Given the description of an element on the screen output the (x, y) to click on. 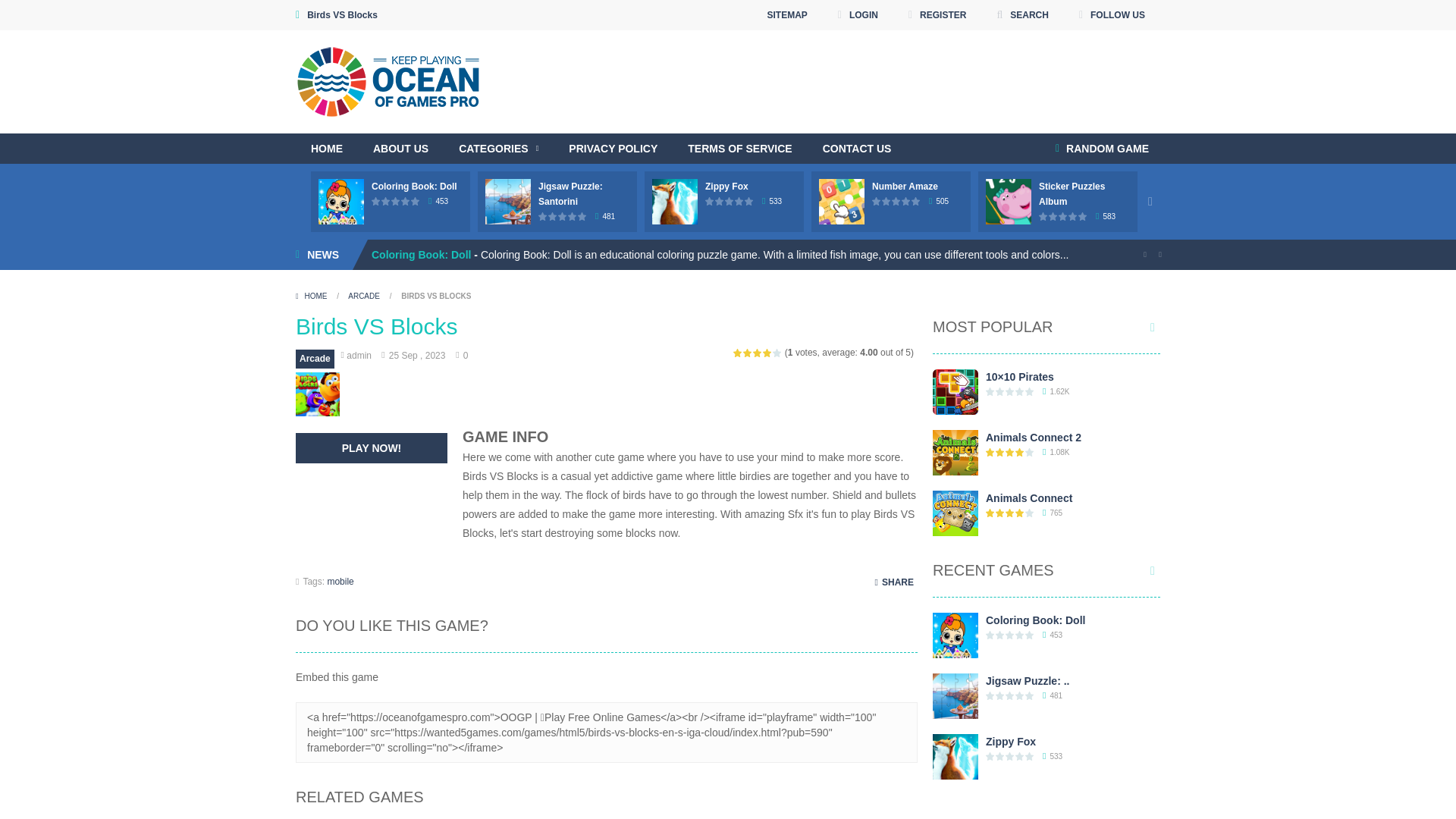
REGISTER (936, 15)
Zippy Fox (726, 185)
RANDOM GAME (1101, 148)
Jigsaw Puzzle: Santorini (570, 193)
0 votes, average: 0.00 out of 5 (572, 216)
0 votes, average: 0.00 out of 5 (376, 201)
0 votes, average: 0.00 out of 5 (552, 216)
SEARCH (1022, 15)
TERMS OF SERVICE (739, 148)
HOME (326, 148)
0 votes, average: 0.00 out of 5 (405, 201)
0 votes, average: 0.00 out of 5 (562, 216)
PRIVACY POLICY (612, 148)
FOLLOW US (1111, 15)
0 votes, average: 0.00 out of 5 (386, 201)
